Given the description of an element on the screen output the (x, y) to click on. 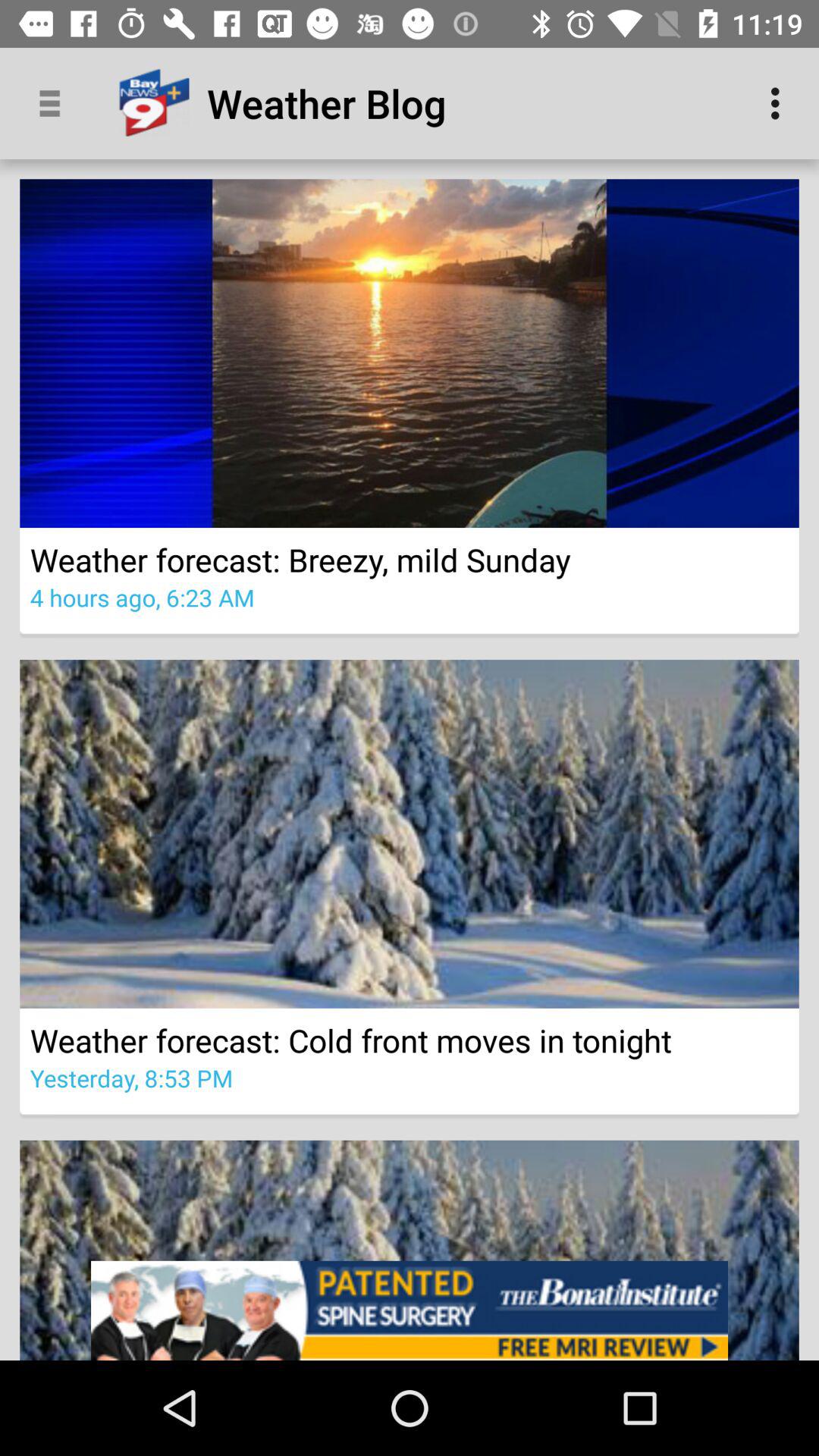
advertisement banner (409, 1310)
